Given the description of an element on the screen output the (x, y) to click on. 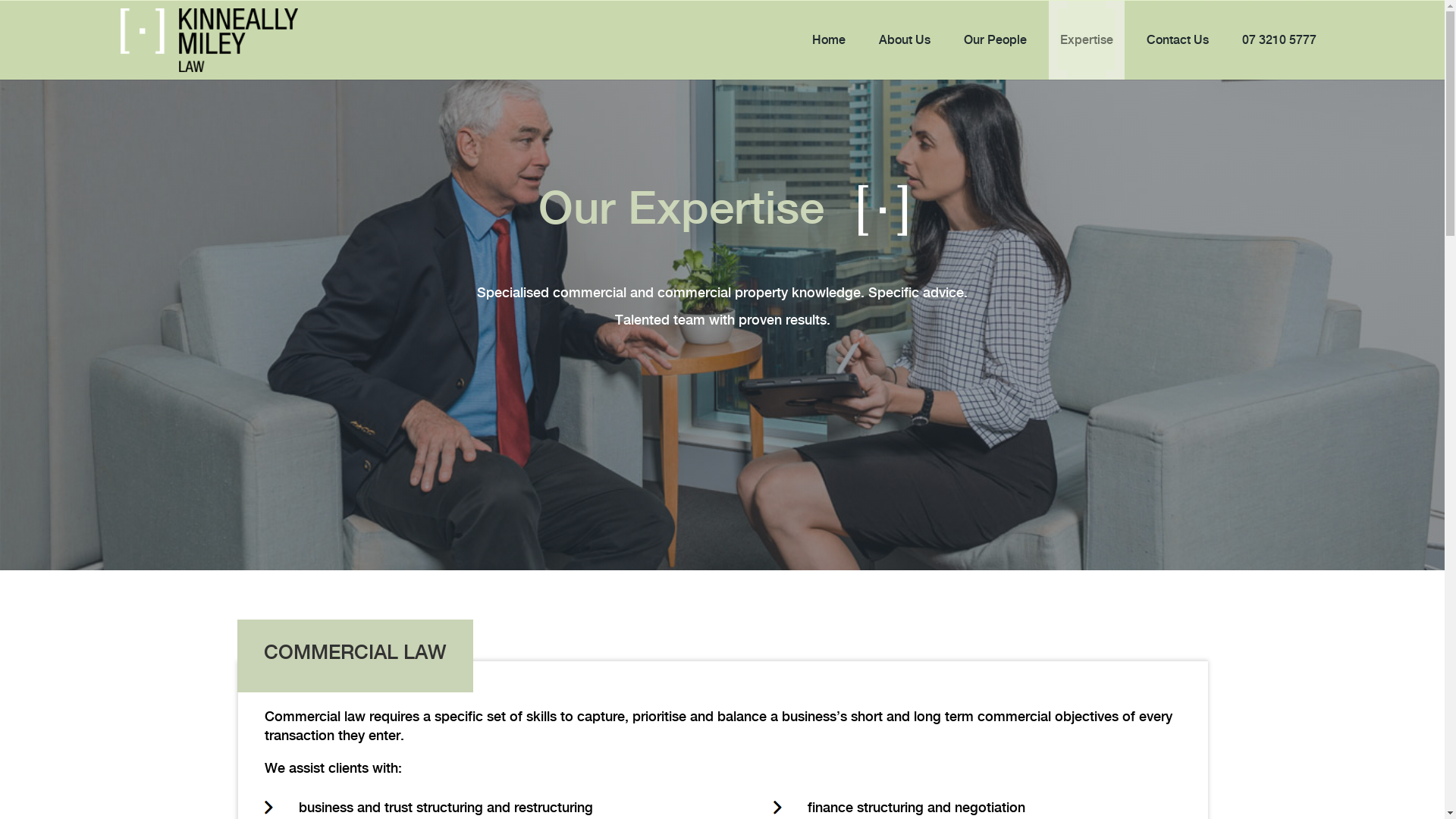
Our People Element type: text (995, 39)
07 3210 5777 Element type: text (1278, 39)
Expertise Element type: text (1086, 39)
Home Element type: text (828, 39)
Contact Us Element type: text (1177, 39)
About Us Element type: text (904, 39)
